Given the description of an element on the screen output the (x, y) to click on. 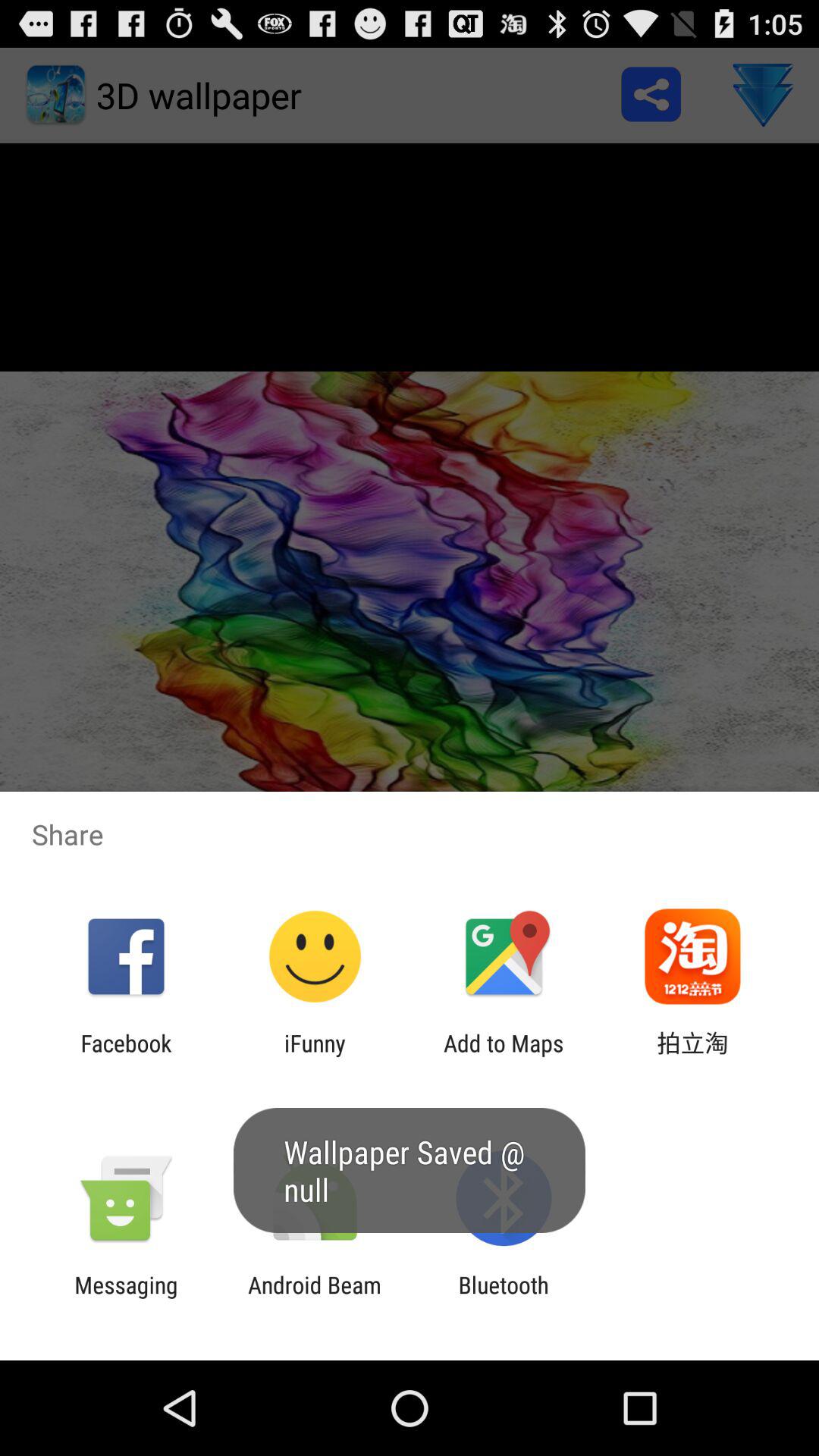
choose the item next to add to maps icon (692, 1056)
